Given the description of an element on the screen output the (x, y) to click on. 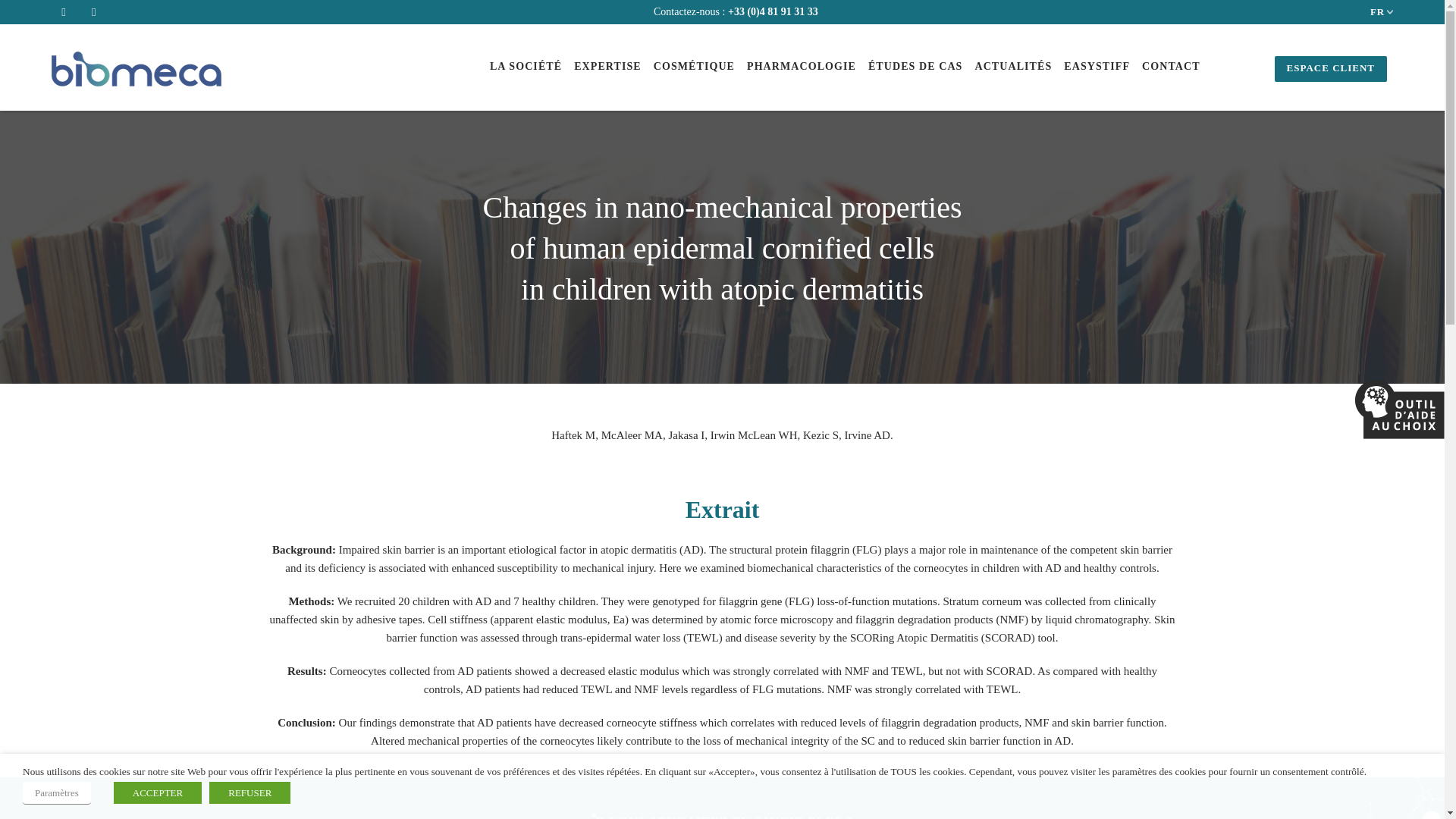
PHARMACOLOGIE (801, 68)
FR (1377, 12)
Rejoignez-nous sur Youtube (93, 12)
ESPACE CLIENT (1331, 68)
CONTACT (1170, 68)
EASYSTIFF (1096, 68)
Rejoignez-nous sur Linkedin (62, 12)
EXPERTISE (607, 68)
